Given the description of an element on the screen output the (x, y) to click on. 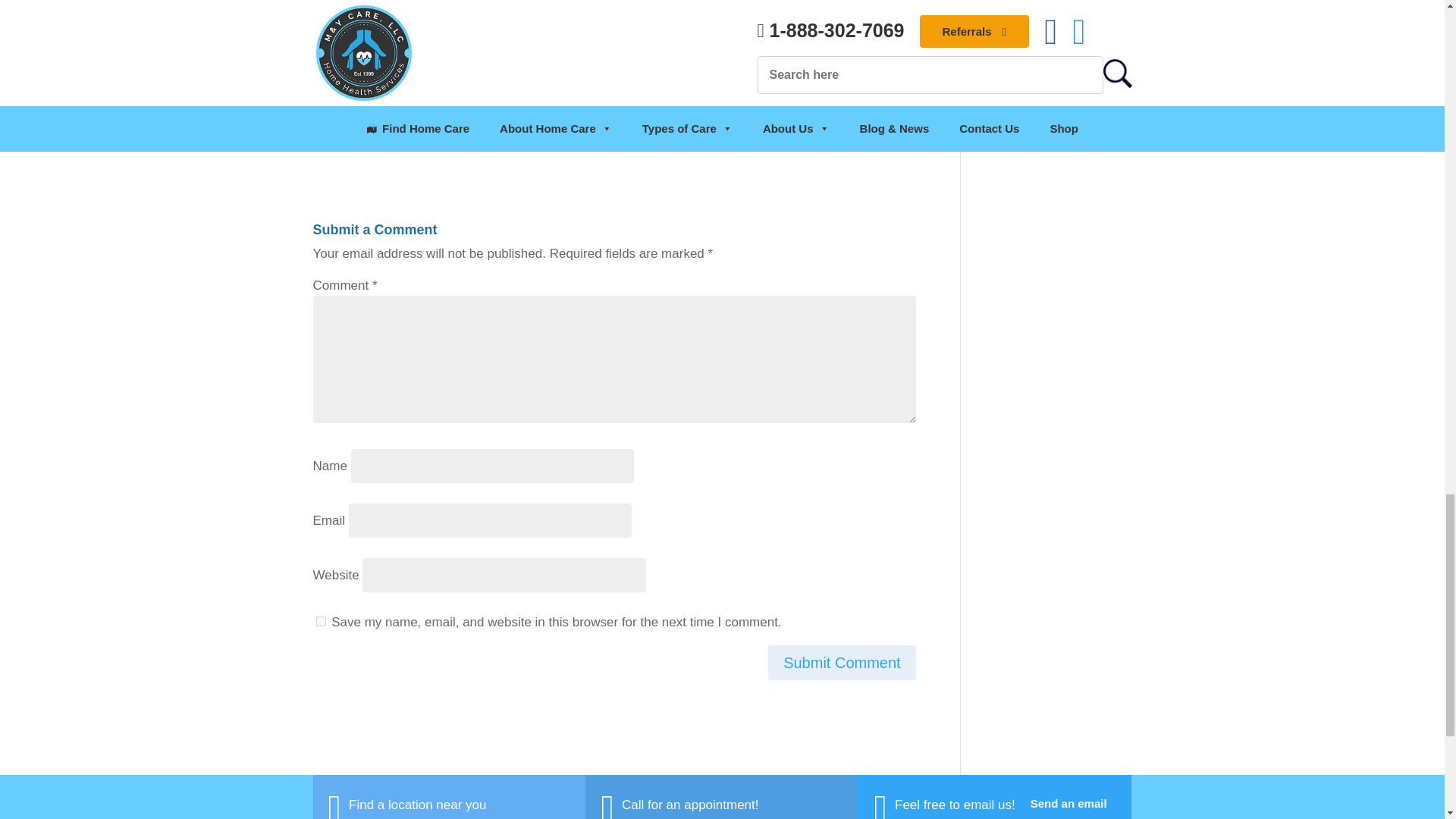
yes (319, 621)
Wyatt Koma (477, 142)
Submit Comment (841, 662)
Tricia Neuman (372, 142)
Submit Comment (841, 662)
